Given the description of an element on the screen output the (x, y) to click on. 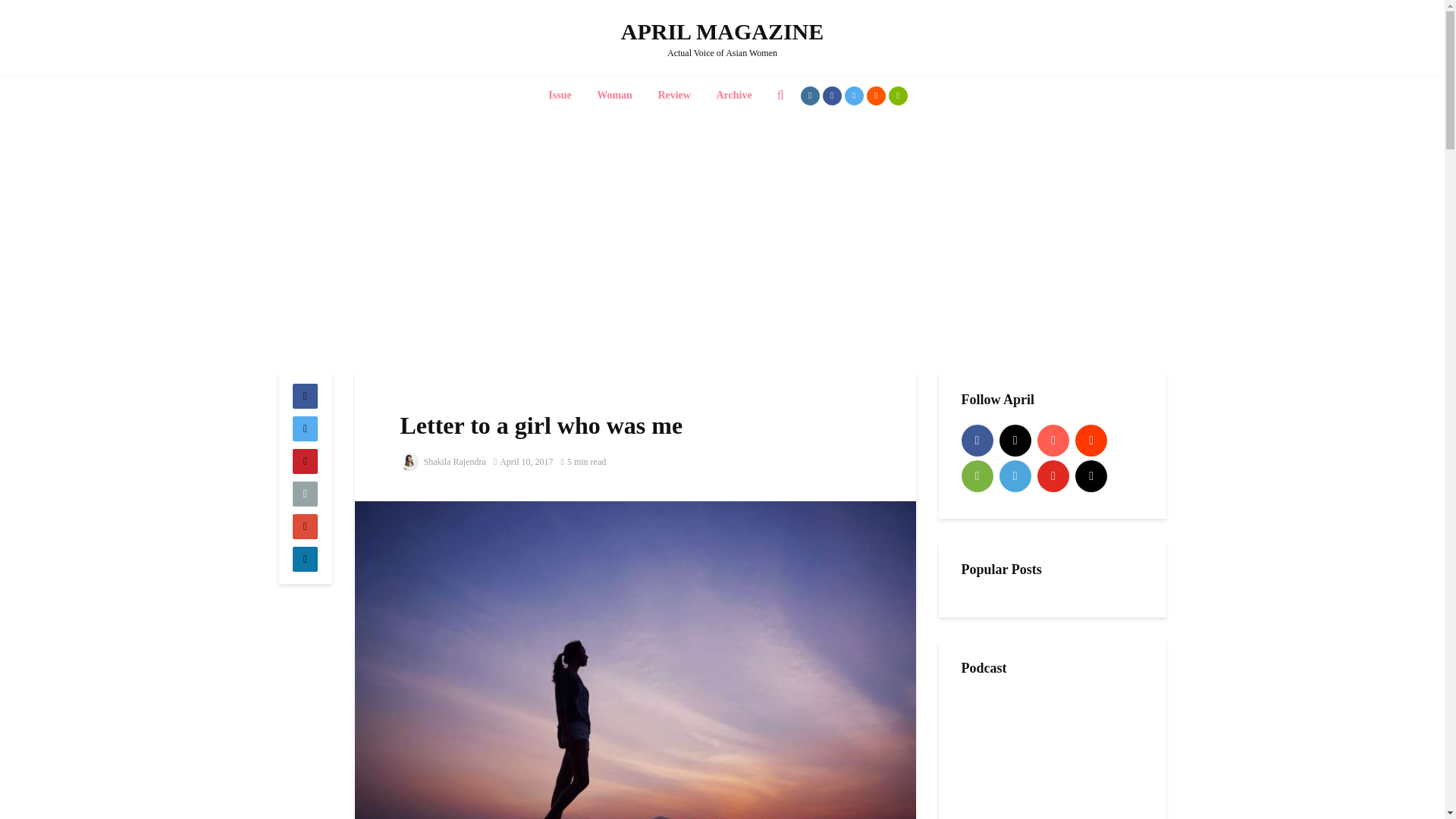
iTunes (1052, 440)
Instagram (1014, 440)
APRIL MAGAZINE (722, 31)
Woman (614, 95)
Facebook (976, 440)
Archive (733, 95)
Review (673, 95)
Issue (559, 95)
